Given the description of an element on the screen output the (x, y) to click on. 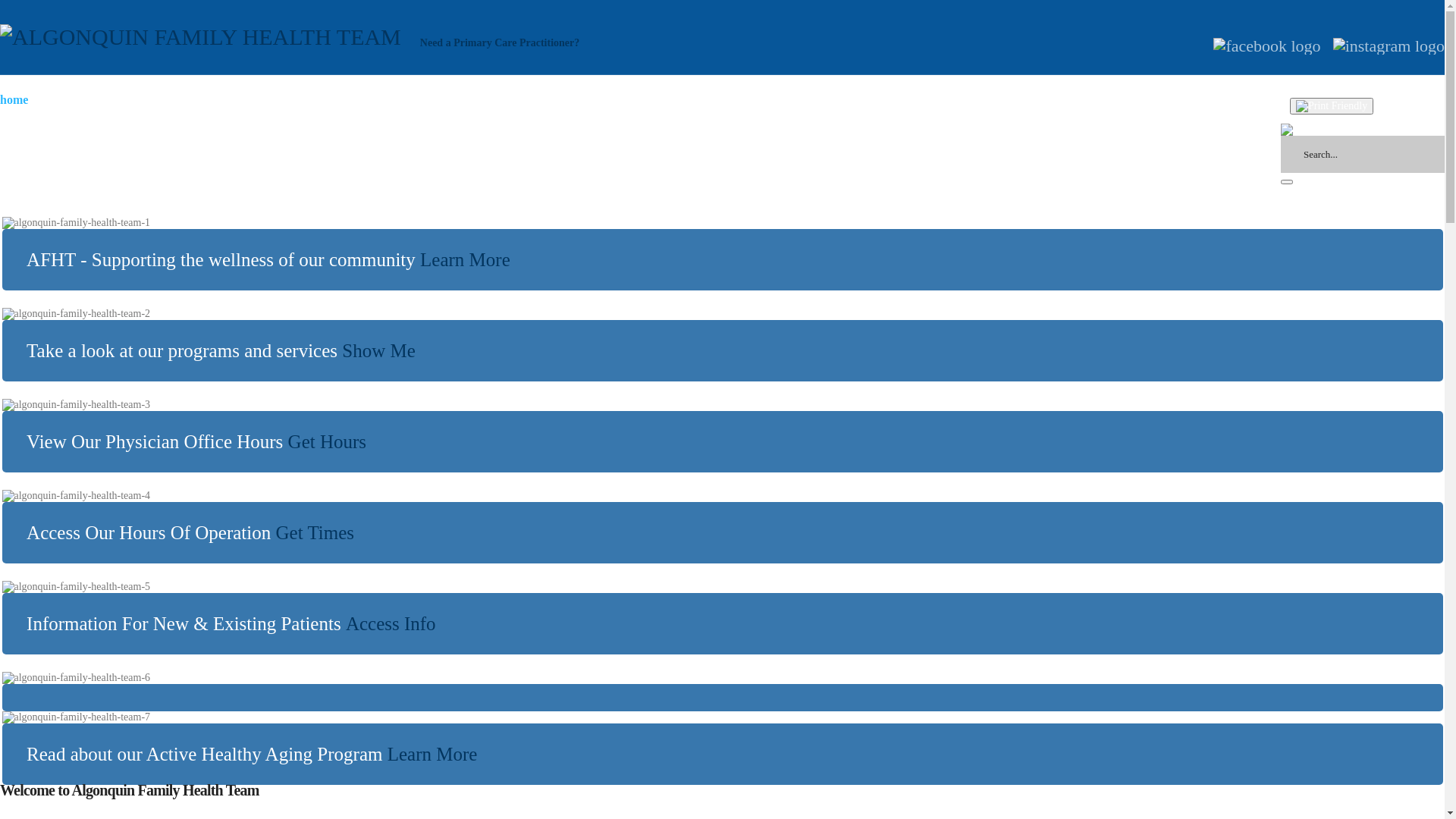
huntsville health care clinic Element type: text (679, 118)
physicians / nps Element type: text (224, 118)
about Element type: text (369, 118)
patients Element type: text (309, 118)
Link: Programs and Services
Show Me Element type: text (378, 350)
need a primary care practitioner? Element type: text (496, 118)
Link: Active Healthy Aging Program
Learn More Element type: text (432, 753)
Link: Physician Office Hours
Get Hours Element type: text (327, 441)
contact Element type: text (793, 118)
programs & services Element type: text (105, 118)
Need a Primary Care Practitioner? Element type: text (499, 42)
Link: About Algonquin Family Health Team
Learn More Element type: text (465, 259)
Link: Hours of Operation
Get Times Element type: text (314, 532)
Link: Information Resources
Access Info Element type: text (390, 623)
